Given the description of an element on the screen output the (x, y) to click on. 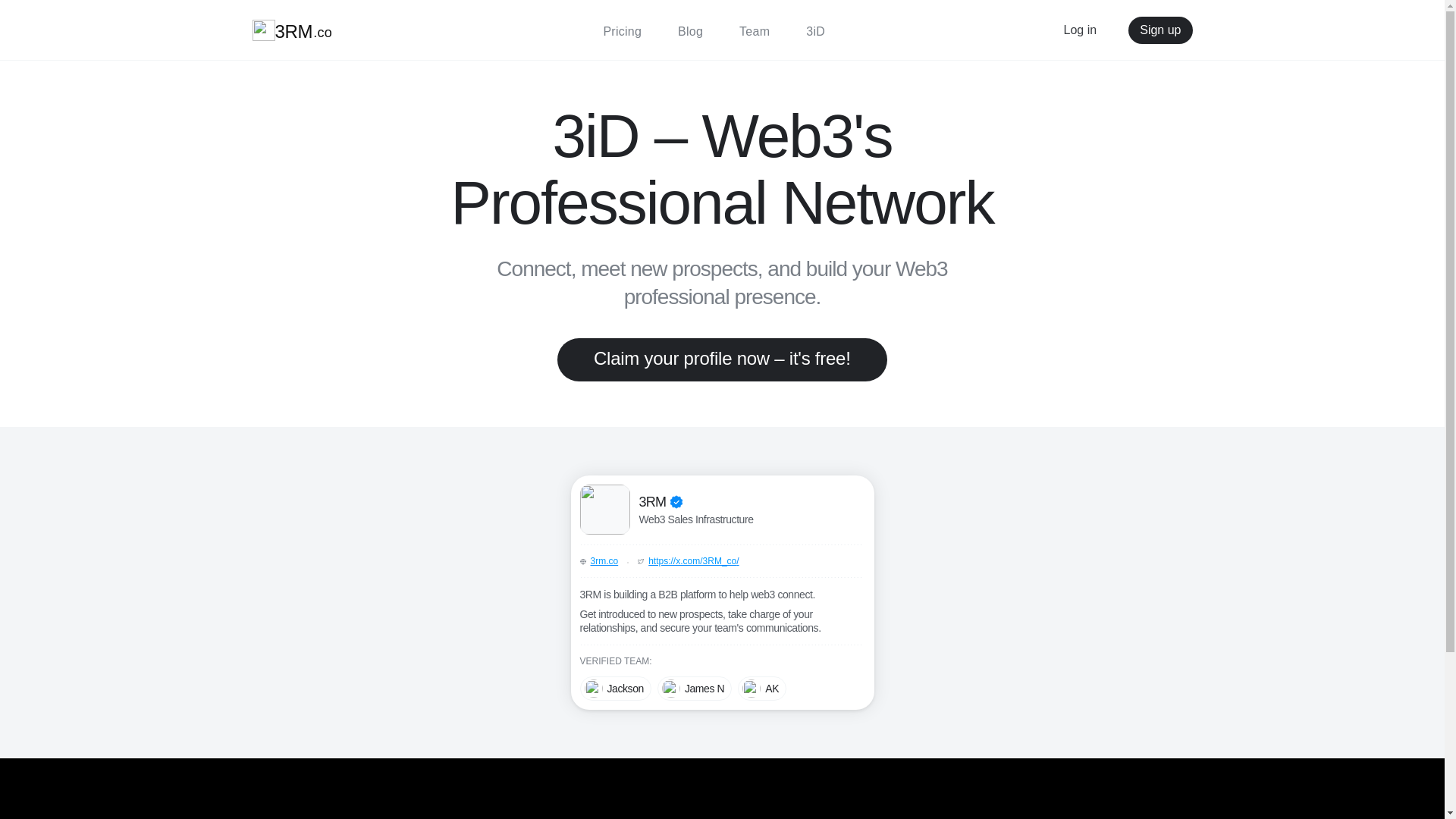
AK (762, 688)
Log in (1080, 30)
Jackson (614, 688)
James N (695, 688)
Sign up (1160, 30)
3rm.co (603, 561)
Team (754, 31)
Pricing (622, 31)
Blog (690, 31)
